Given the description of an element on the screen output the (x, y) to click on. 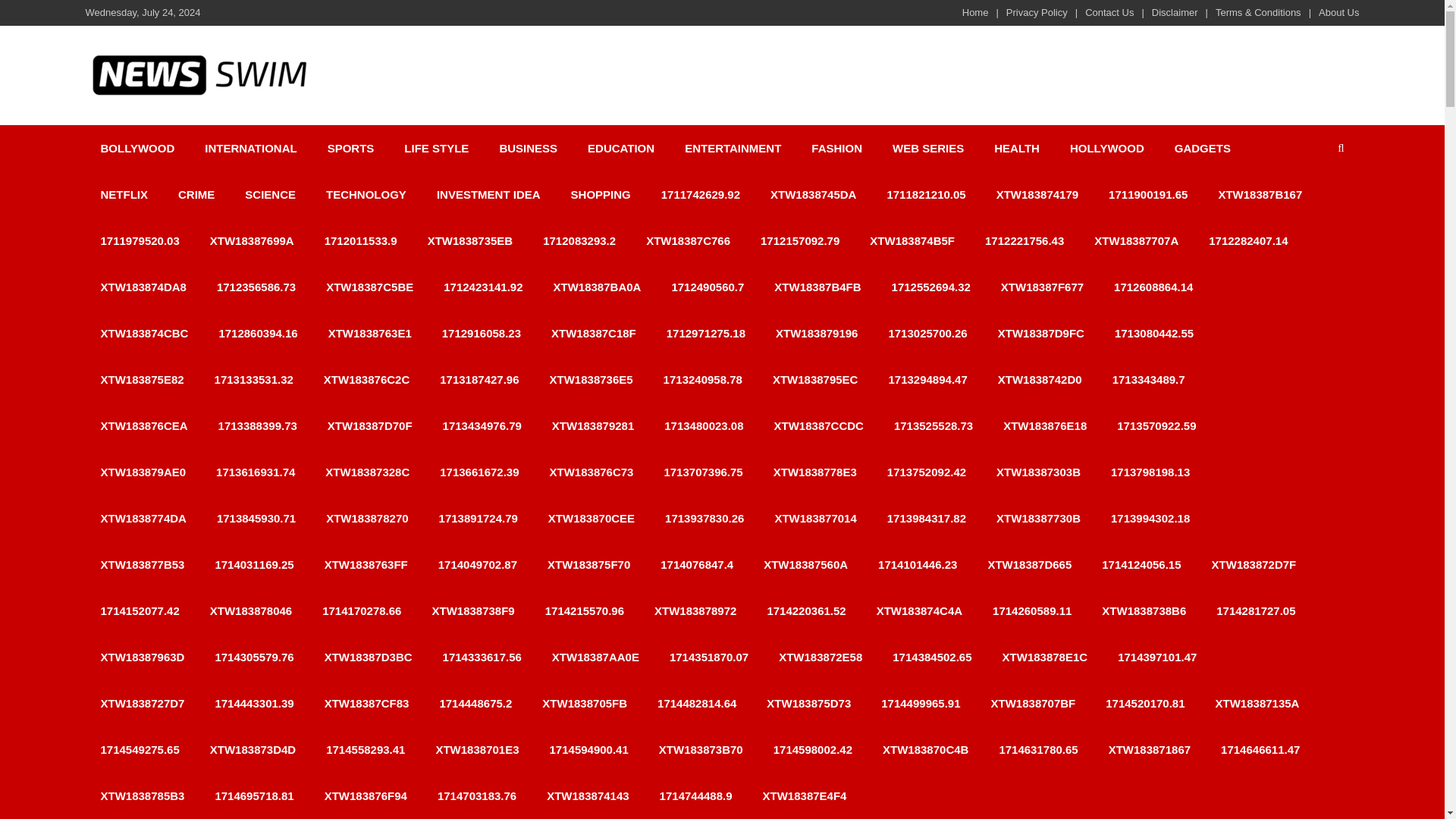
SHOPPING (601, 194)
WEB SERIES (927, 148)
XTW1838745DA (812, 194)
FASHION (836, 148)
1711979520.03 (138, 240)
LIFE STYLE (435, 148)
XTW18387699A (251, 240)
EDUCATION (620, 148)
SCIENCE (270, 194)
Privacy Policy (1036, 12)
TECHNOLOGY (366, 194)
BUSINESS (527, 148)
CRIME (196, 194)
1712011533.9 (360, 240)
1711900191.65 (1147, 194)
